Given the description of an element on the screen output the (x, y) to click on. 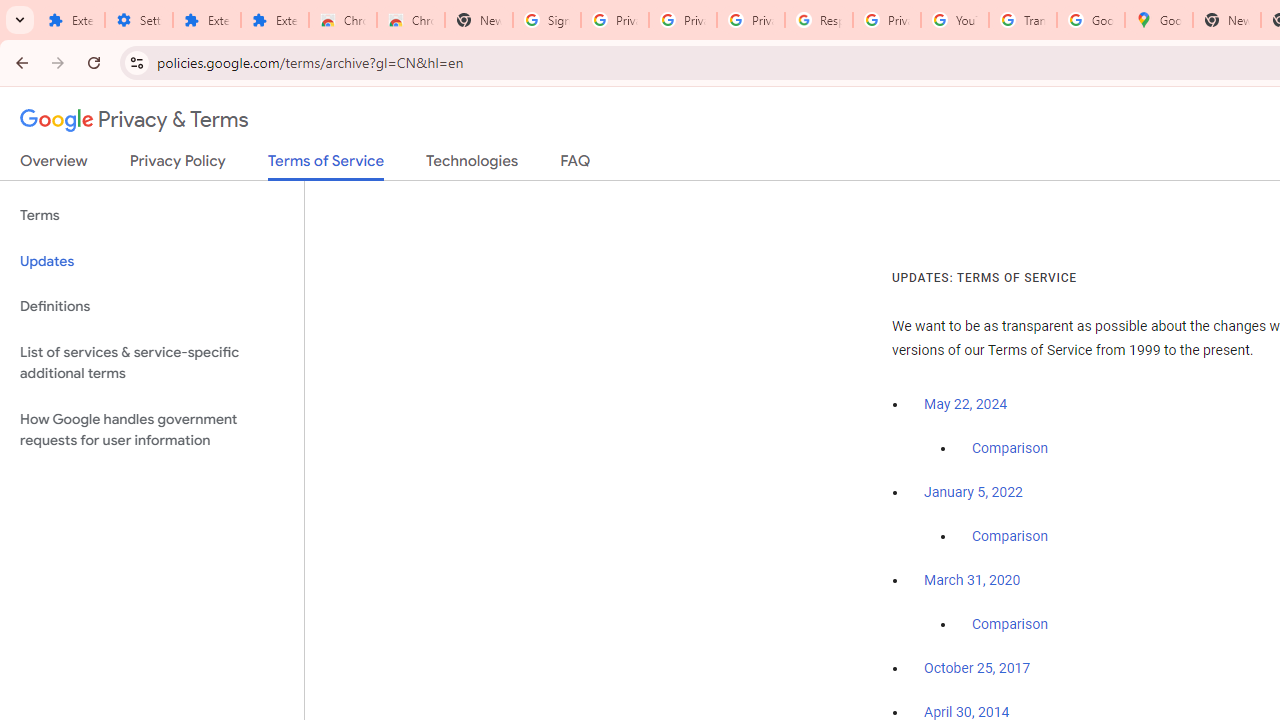
October 25, 2017 (977, 669)
January 5, 2022 (973, 492)
